Given the description of an element on the screen output the (x, y) to click on. 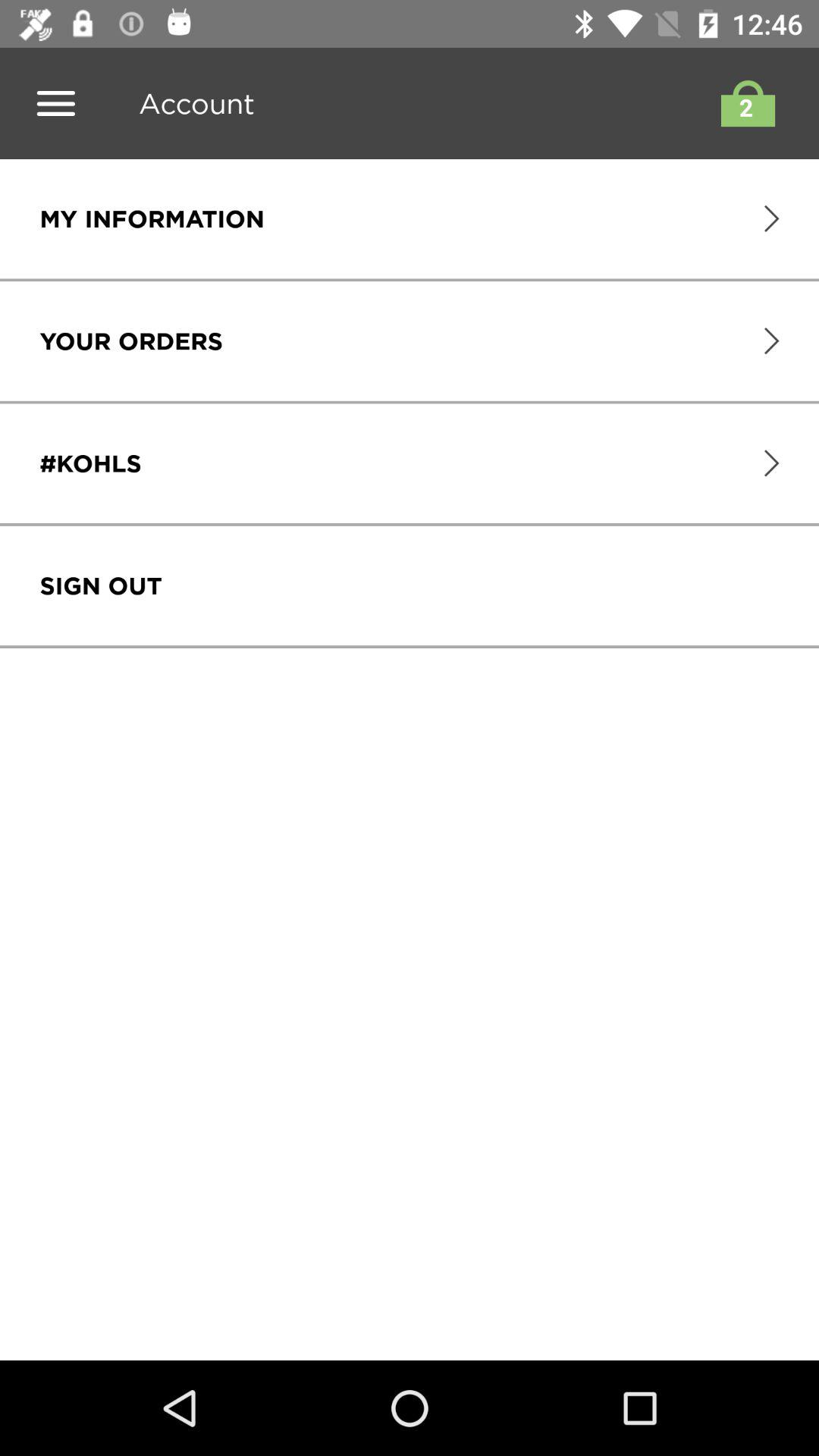
click item on the left (100, 585)
